Given the description of an element on the screen output the (x, y) to click on. 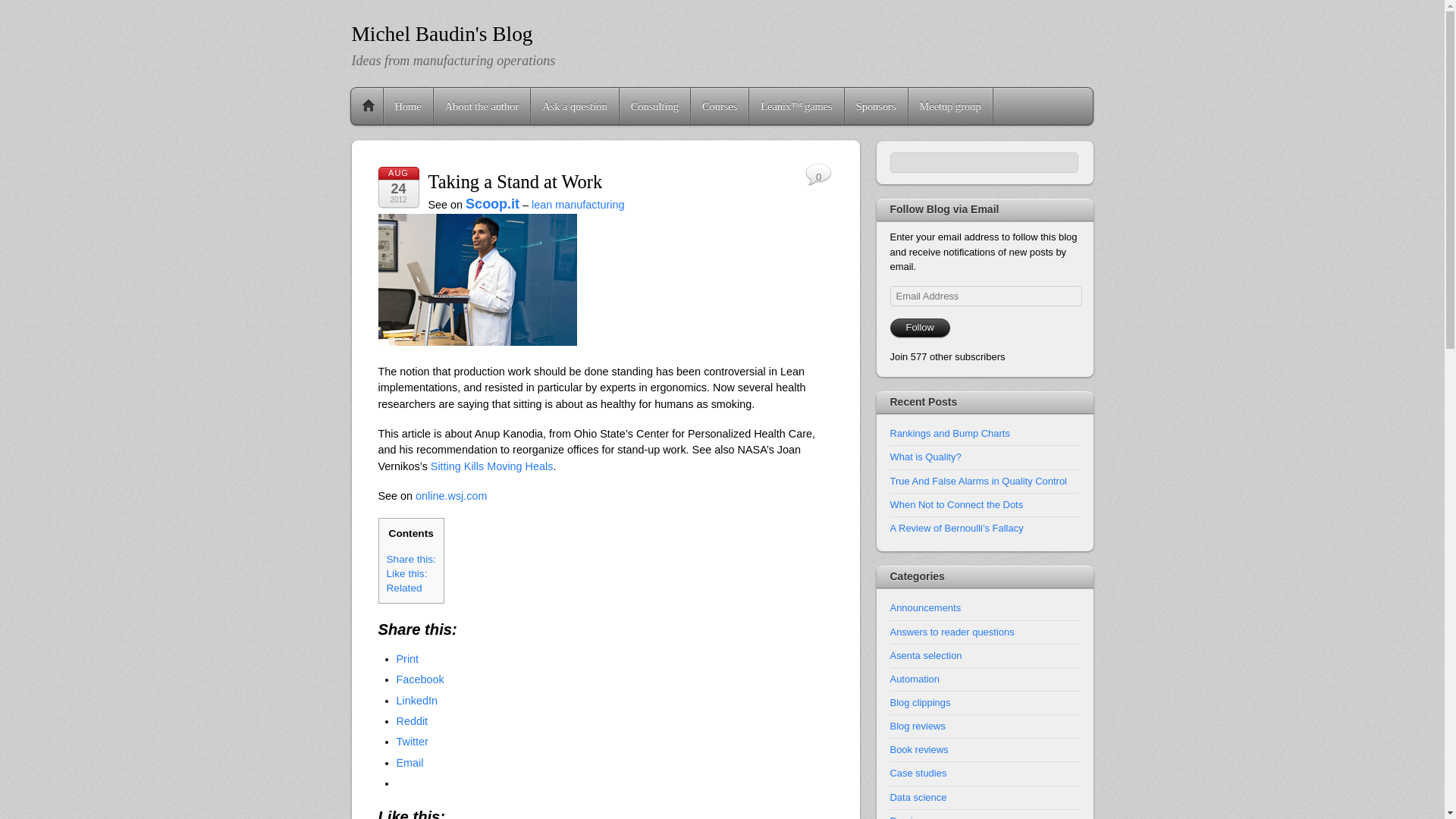
Click to share on Reddit (412, 720)
online.wsj.com (450, 495)
Rankings and Bump Charts (949, 432)
Meetup group (950, 105)
Taking a Stand at Work (515, 181)
Scoop.it (492, 203)
lean manufacturing (577, 204)
What is Quality? (924, 456)
Sitting Kills Moving Heals (491, 466)
Like this: (407, 573)
